Given the description of an element on the screen output the (x, y) to click on. 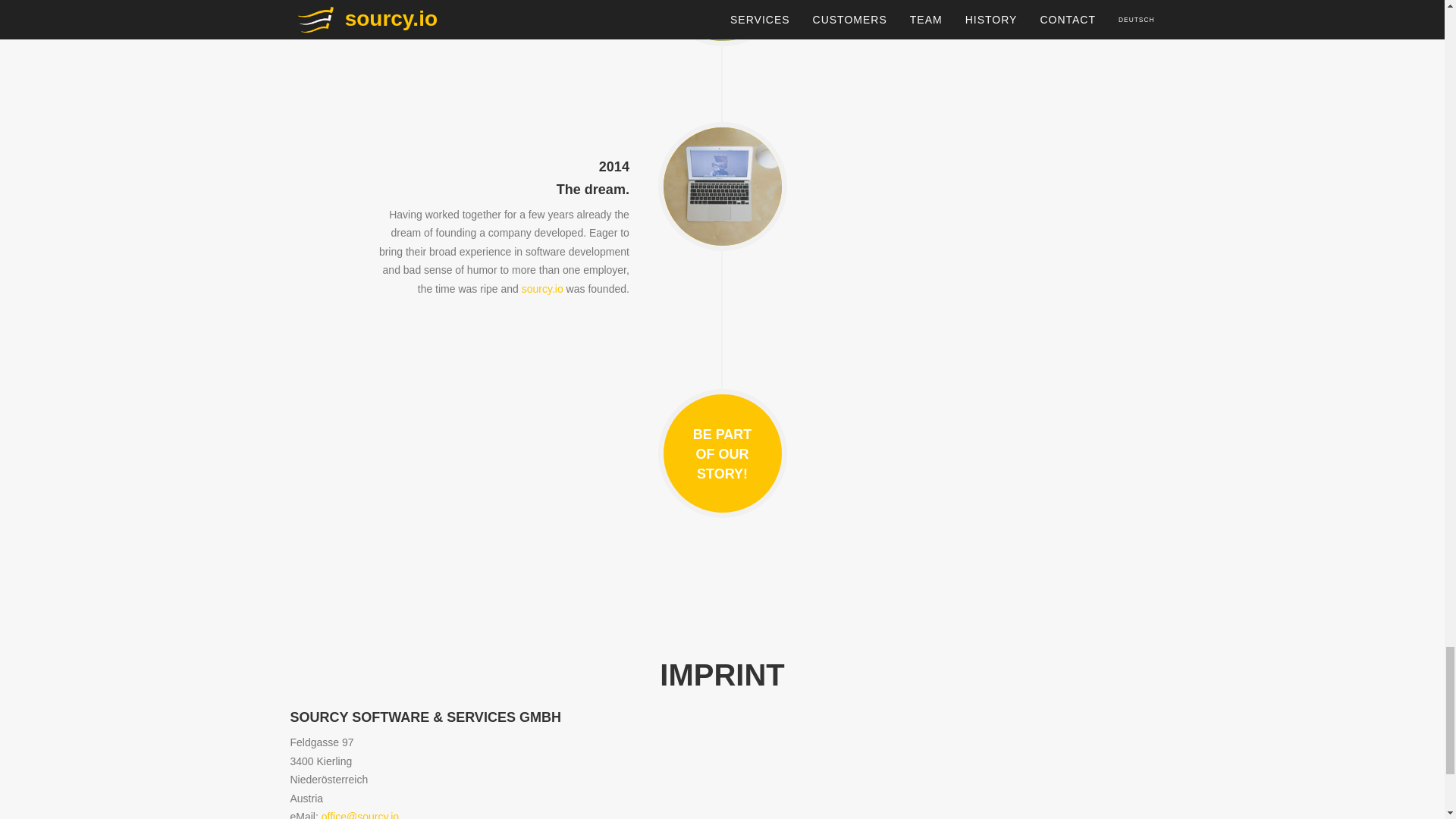
sourcy.io (542, 288)
